Given the description of an element on the screen output the (x, y) to click on. 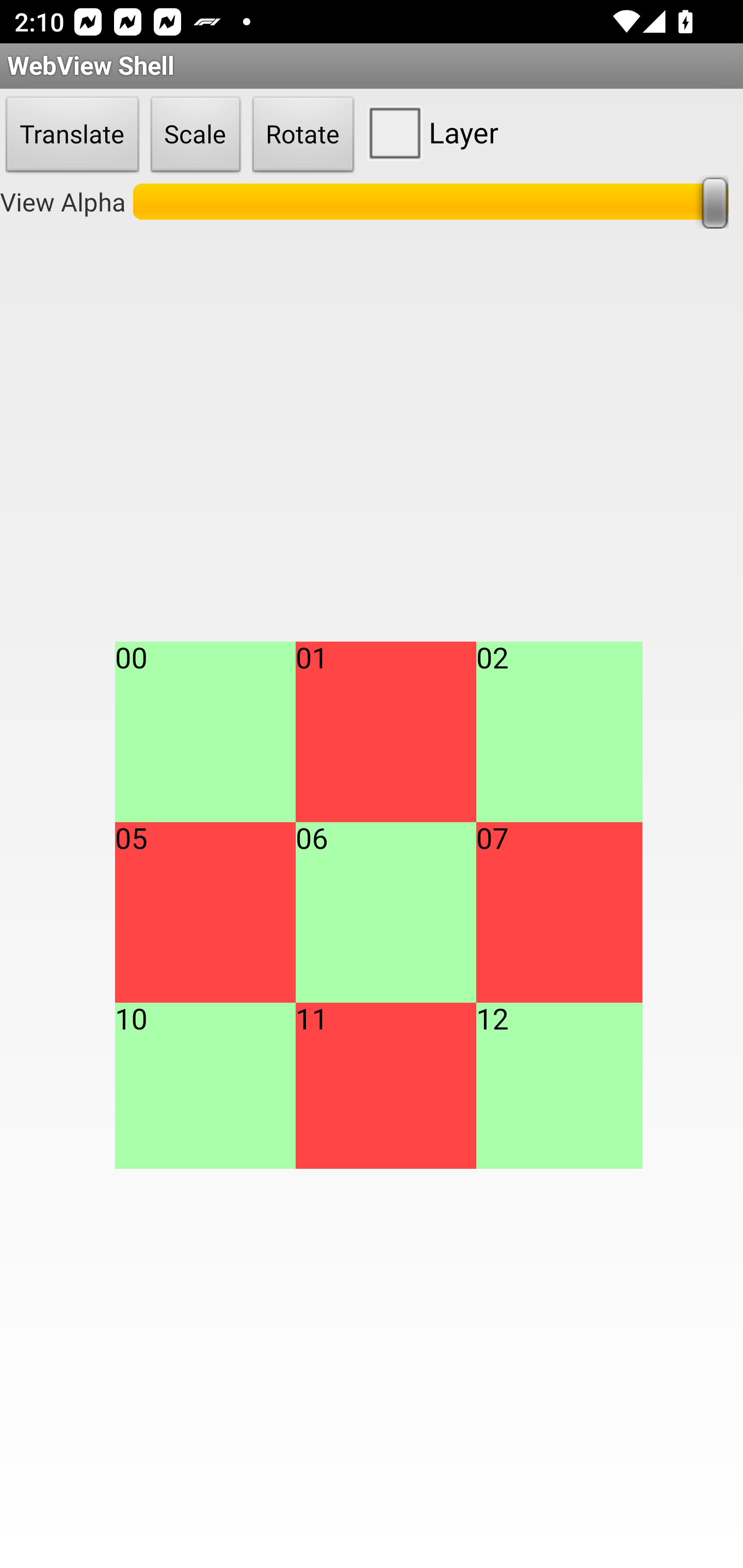
Layer (429, 132)
Translate (72, 135)
Scale (195, 135)
Rotate (303, 135)
